Given the description of an element on the screen output the (x, y) to click on. 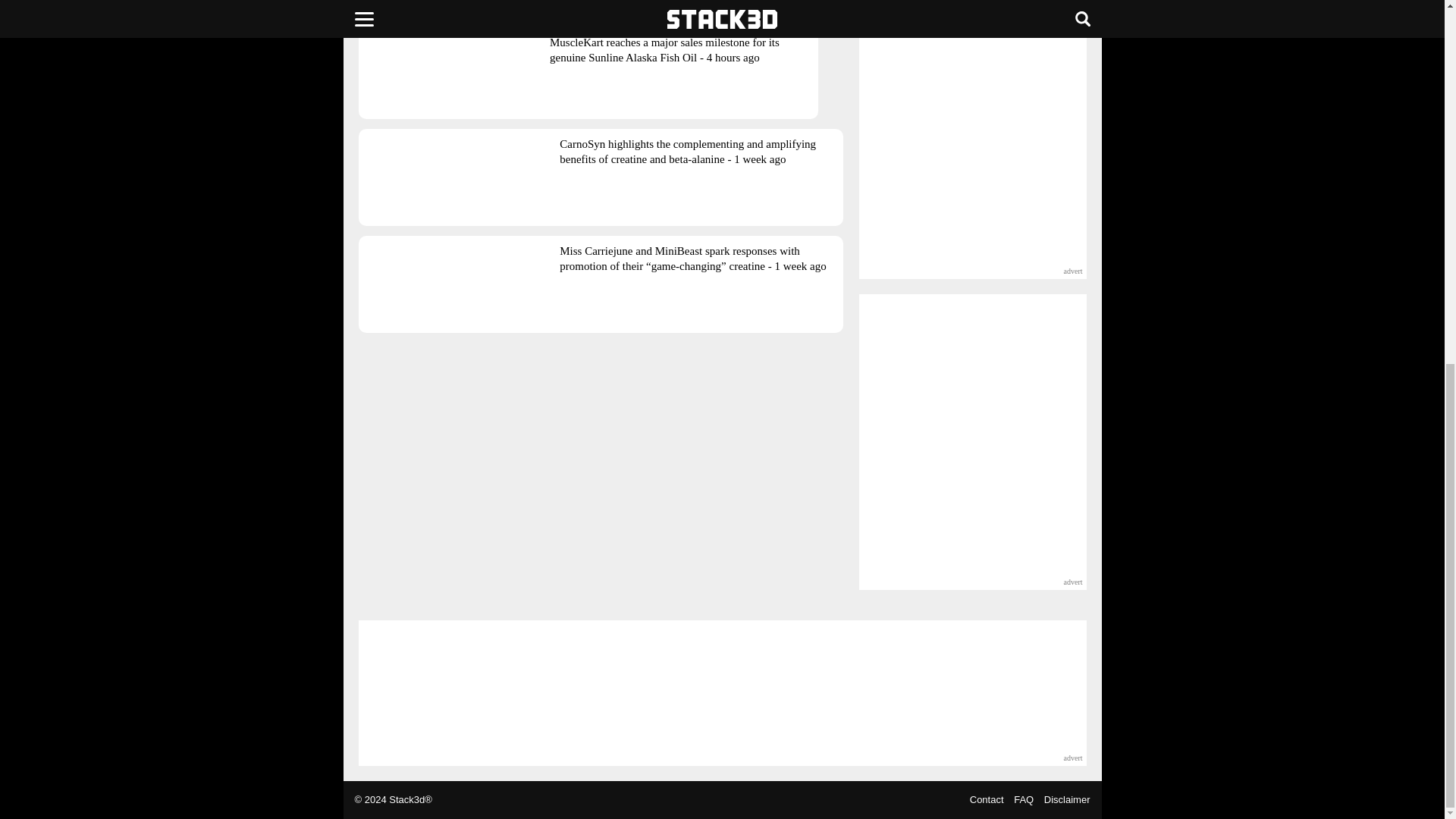
general (446, 2)
